Given the description of an element on the screen output the (x, y) to click on. 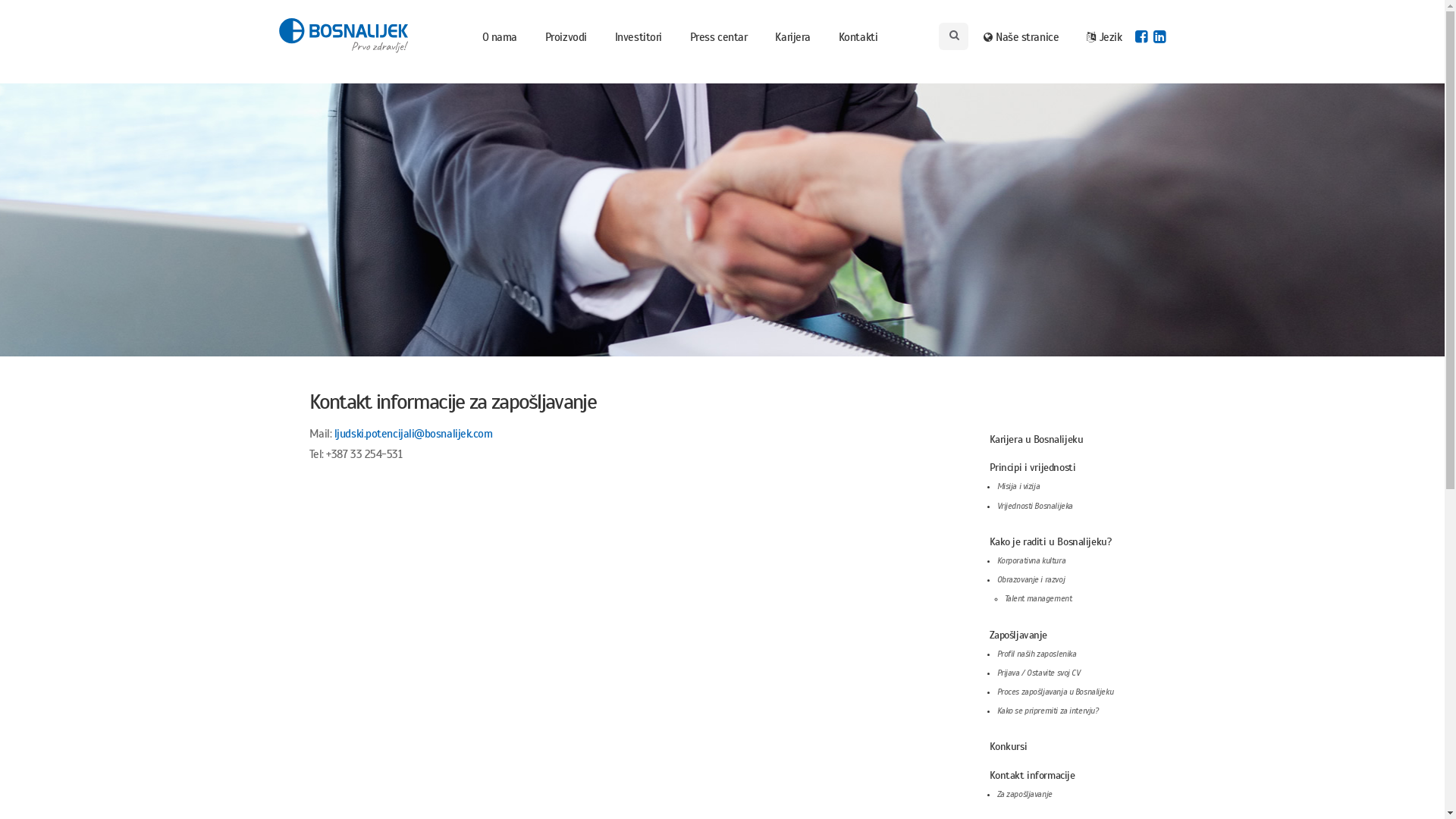
Prijava / Ostavite svoj CV Element type: text (1037, 672)
Misija i vizija Element type: text (1017, 486)
Karijera Element type: text (792, 36)
Kontakti Element type: text (857, 36)
Investitori Element type: text (638, 36)
Karijera u Bosnalijeku Element type: text (1035, 439)
Vrijednosti Bosnalijeka Element type: text (1034, 506)
Naslovna Element type: hover (343, 36)
Kontakt informacije Element type: text (1031, 774)
Korporativna kultura Element type: text (1030, 560)
Press centar Element type: text (718, 36)
Talent management Element type: text (1037, 598)
Konkursi Element type: text (1007, 746)
Obrazovanje i razvoj Element type: text (1030, 579)
Proizvodi Element type: text (565, 36)
Kako se pripremiti za intervju? Element type: text (1047, 710)
Kako je raditi u Bosnalijeku? Element type: text (1049, 541)
ljudski.potencijali@bosnalijek.com Element type: text (413, 433)
Principi i vrijednosti Element type: text (1031, 467)
O nama Element type: text (499, 36)
